Given the description of an element on the screen output the (x, y) to click on. 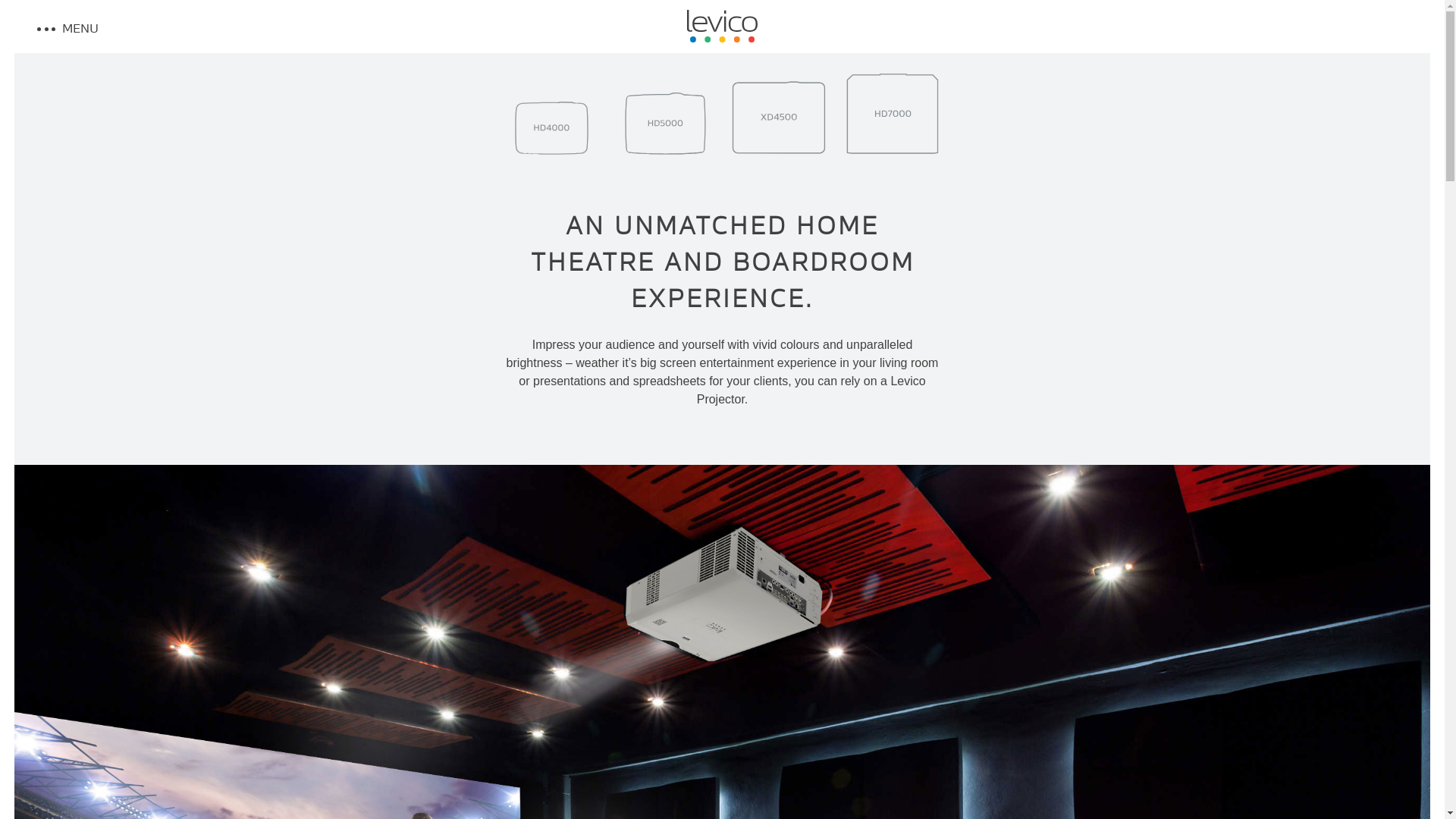
0 Element type: text (892, 115)
0 Element type: text (778, 115)
0 Element type: text (664, 118)
MENU Element type: text (202, 26)
0 Element type: text (551, 118)
